Given the description of an element on the screen output the (x, y) to click on. 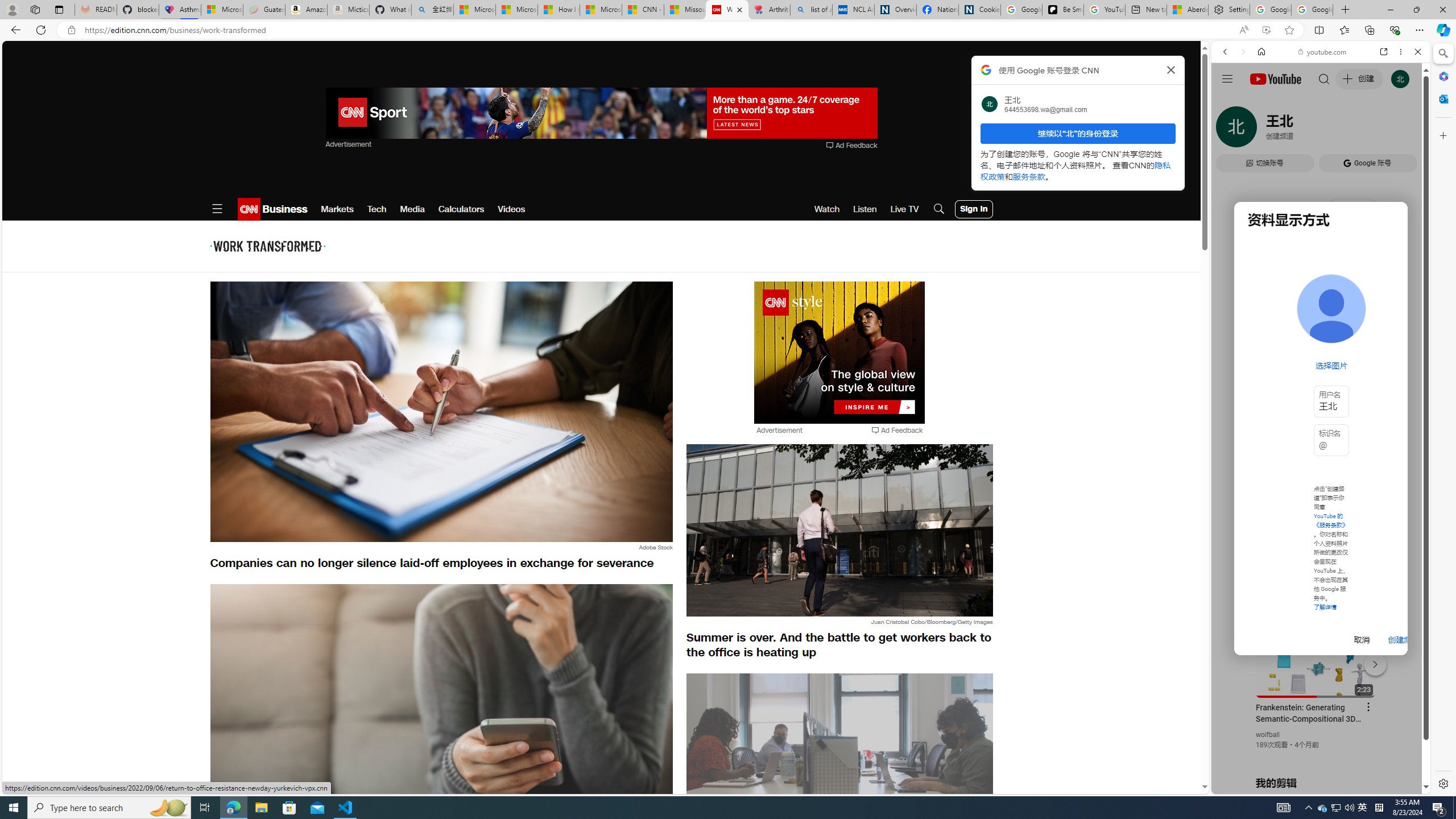
Watch (826, 208)
Class: Bz112c Bz112c-r9oPif (1170, 69)
Preferences (1403, 129)
Actions for this site (1371, 661)
Arthritis: Ask Health Professionals (769, 9)
Show More Music (1390, 310)
#you (1315, 659)
